Given the description of an element on the screen output the (x, y) to click on. 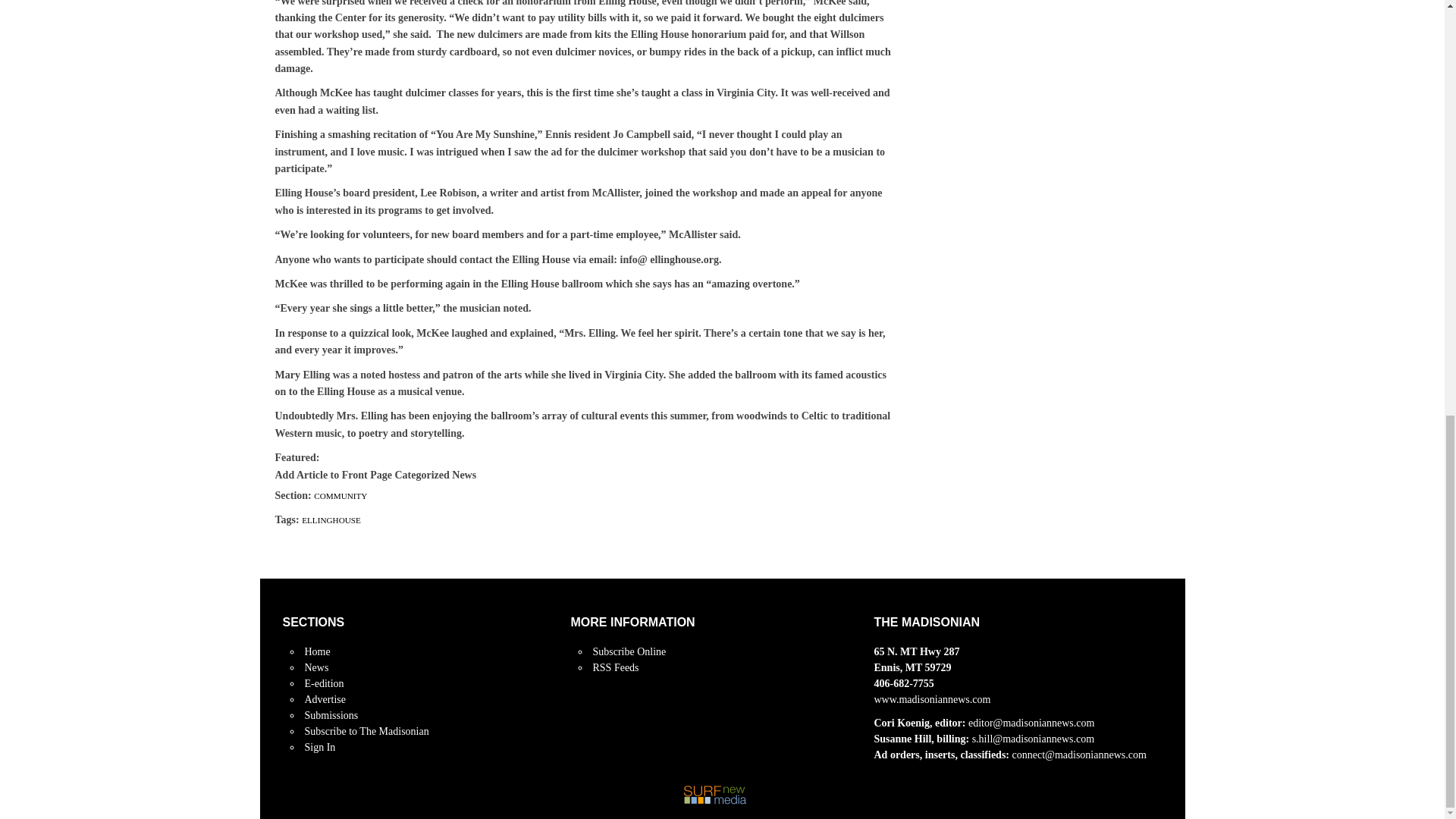
E-edition (323, 683)
News (316, 667)
ELLINGHOUSE (331, 519)
Advertise (325, 699)
News (316, 667)
Home (317, 651)
COMMUNITY (340, 495)
